Given the description of an element on the screen output the (x, y) to click on. 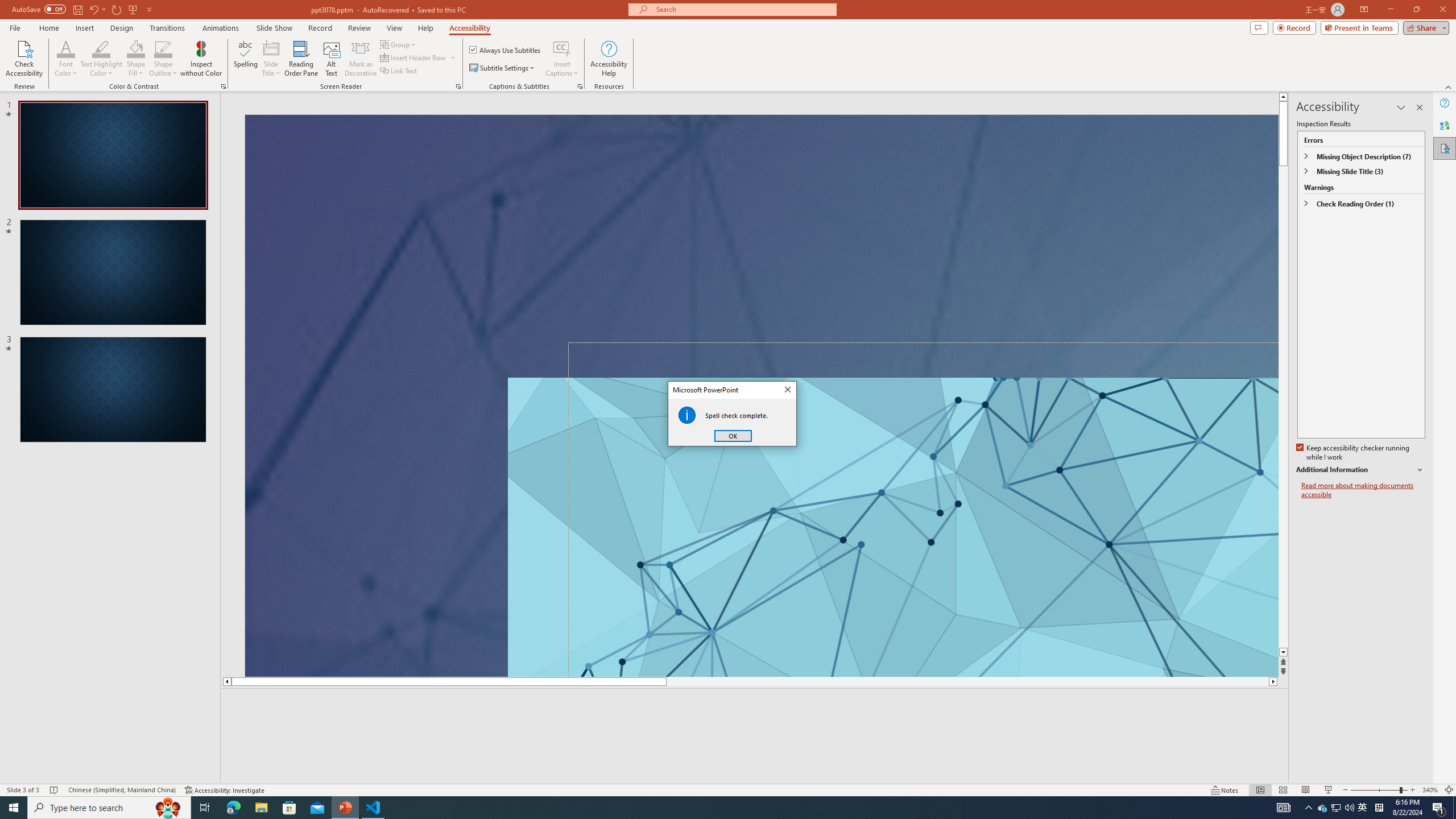
Slide Title (271, 58)
OK (732, 435)
Always Use Subtitles (505, 49)
Mark as Decorative (360, 58)
